Given the description of an element on the screen output the (x, y) to click on. 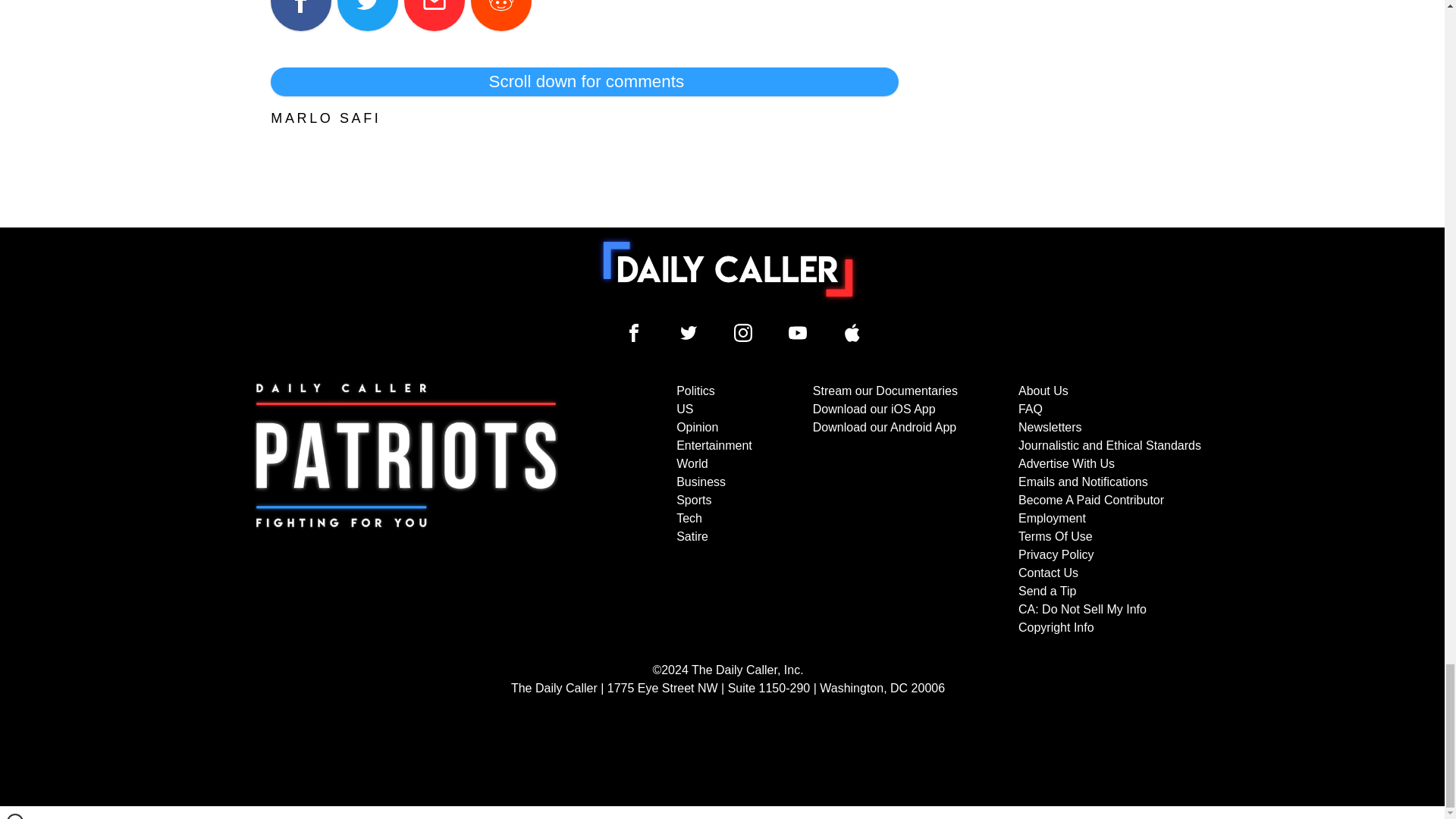
Daily Caller Instagram (742, 332)
Daily Caller Twitter (688, 332)
Scroll down for comments (584, 81)
To home page (727, 268)
Daily Caller YouTube (797, 332)
Daily Caller YouTube (852, 332)
Daily Caller Facebook (633, 332)
Subscribe to The Daily Caller (405, 509)
